Given the description of an element on the screen output the (x, y) to click on. 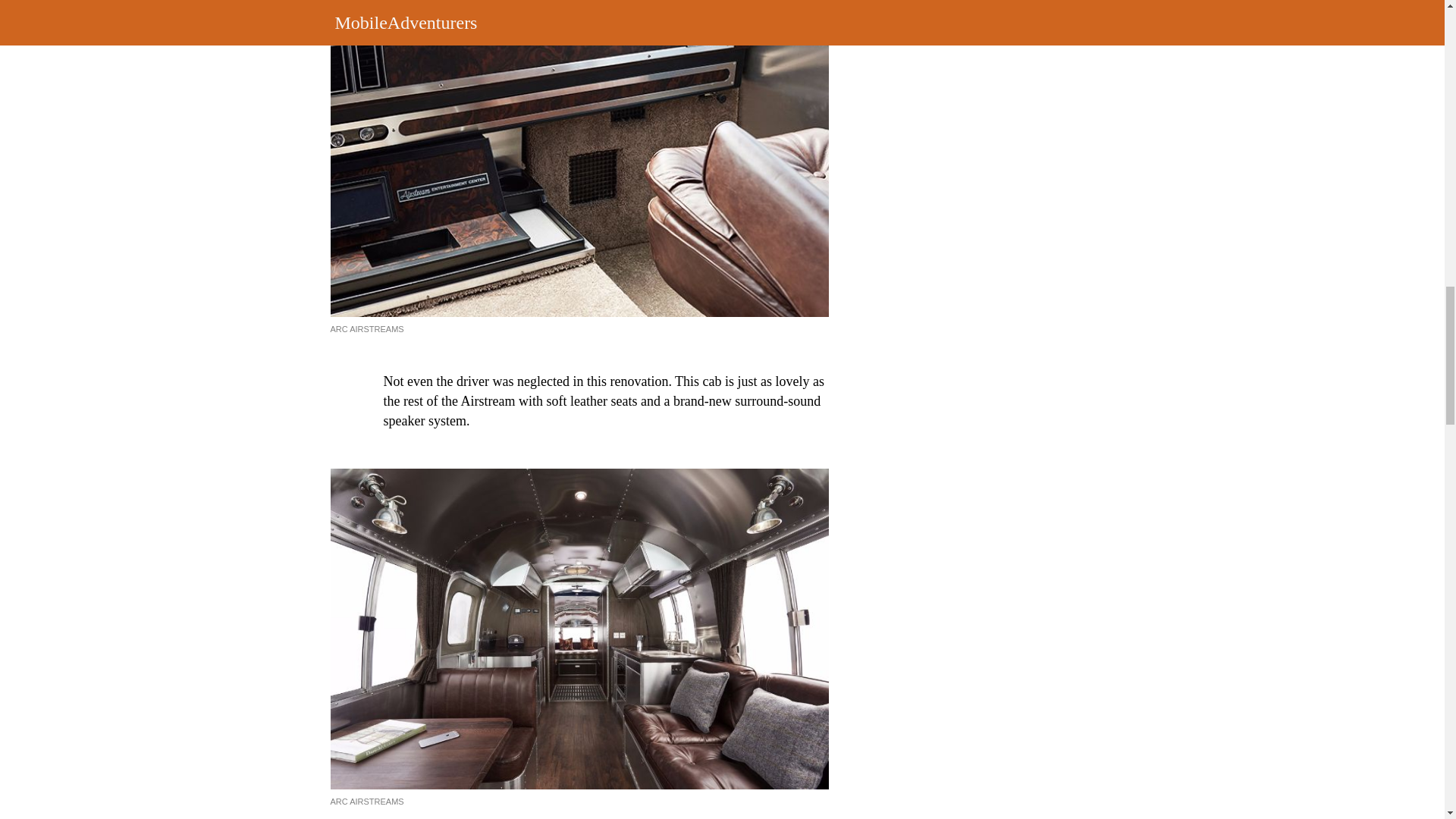
ARC AIRSTREAMS (367, 328)
ARC AIRSTREAMS (367, 800)
